Given the description of an element on the screen output the (x, y) to click on. 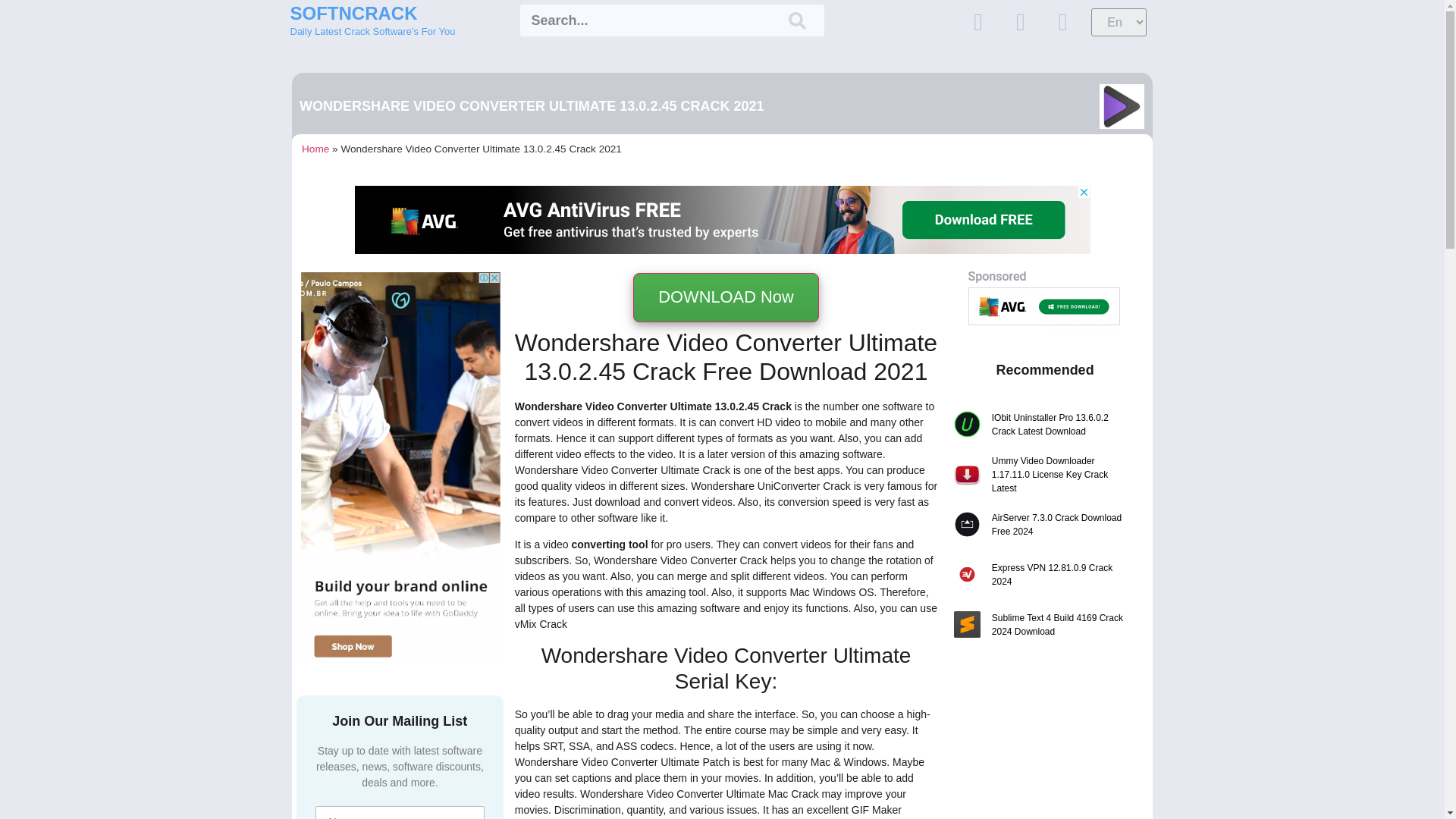
IObit Uninstaller Pro 13.6.0.2 Crack Latest Download (1060, 424)
AirServer 7.3.0 Crack Download Free 2024 (1060, 524)
Ummy Video Downloader 1.17.11.0 License Key Crack Latest (1060, 474)
SOFTNCRACK (352, 13)
